Given the description of an element on the screen output the (x, y) to click on. 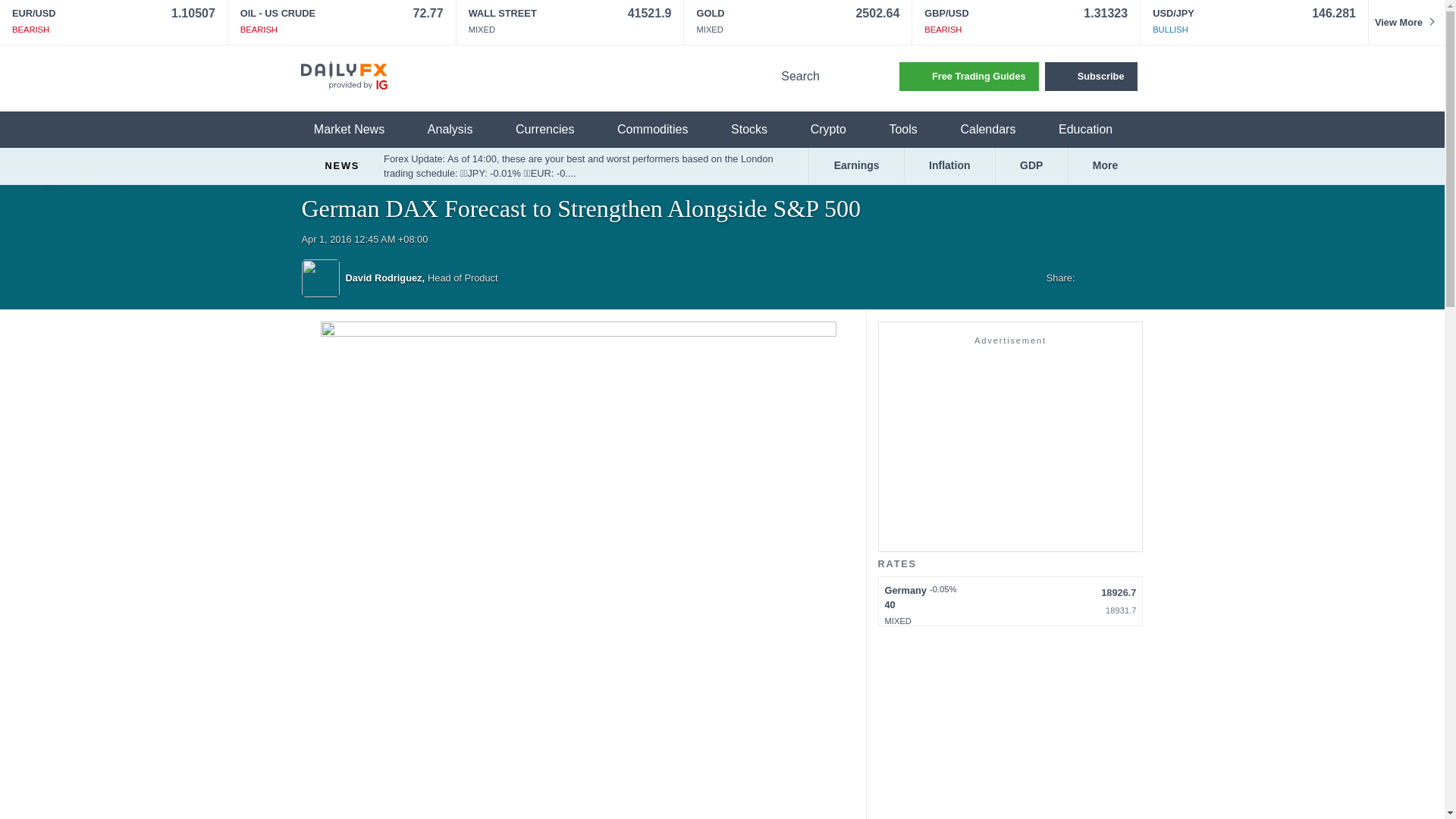
Analysis (458, 129)
Subscribe (1091, 76)
Free Trading Guides (969, 76)
Market News (357, 129)
Currencies (554, 129)
